Given the description of an element on the screen output the (x, y) to click on. 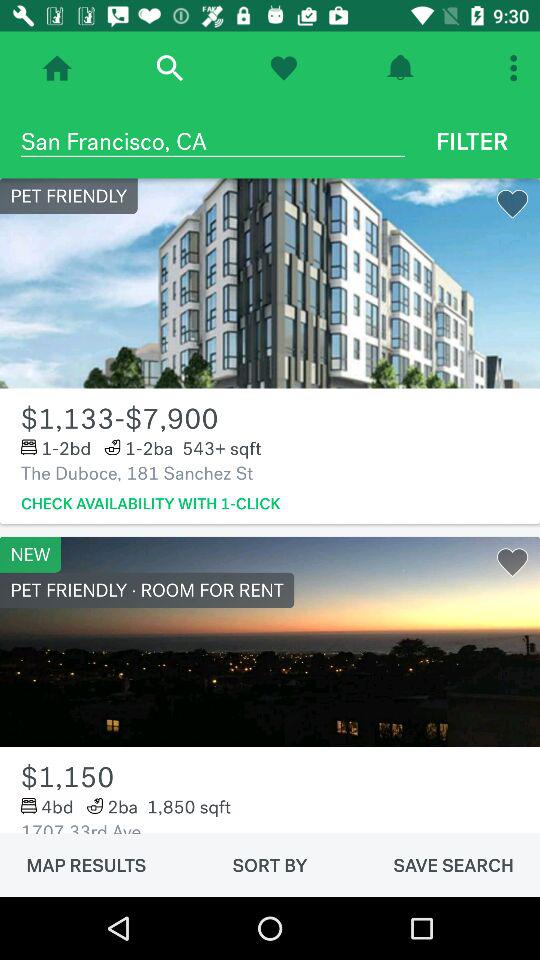
launch the sort by icon (269, 865)
